Given the description of an element on the screen output the (x, y) to click on. 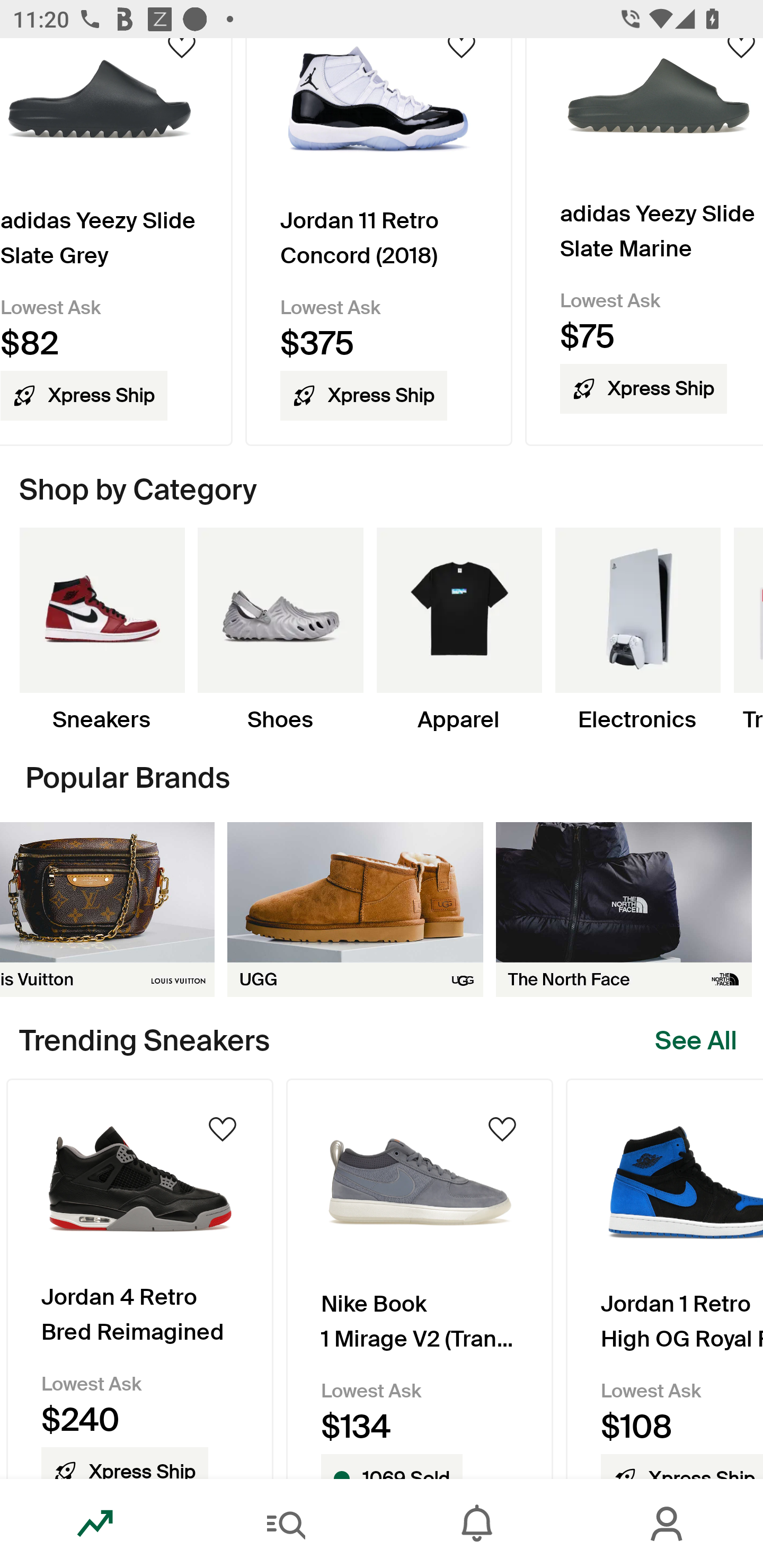
Product Image Sneakers (101, 629)
Product Image Shoes (280, 629)
Product Image Apparel (458, 629)
Product Image Electronics (637, 629)
lv.jpg (107, 909)
ugg.jpg (354, 909)
thenorthface.jpg (623, 909)
See All (695, 1039)
Search (285, 1523)
Inbox (476, 1523)
Account (667, 1523)
